Given the description of an element on the screen output the (x, y) to click on. 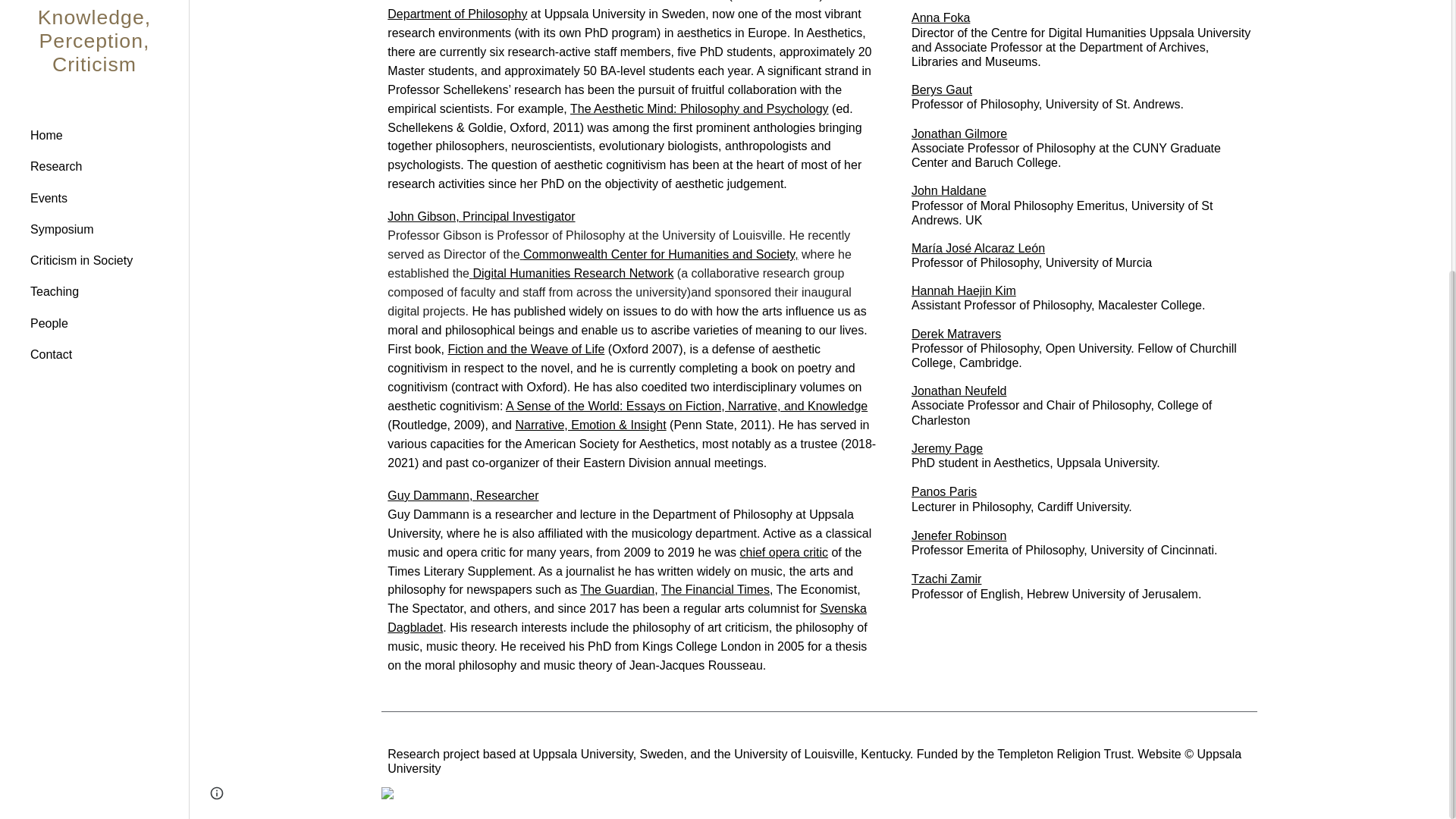
Panos Paris (943, 491)
chief opera critic (783, 552)
John Gibson, Principal Investigator (481, 215)
Jeremy Page (946, 448)
Svenska Dagbladet (626, 617)
Jonathan Neufeld (958, 390)
John Haldane (949, 190)
Anna Foka (940, 17)
Berys Gaut (941, 89)
Digital Humanities Research Network (570, 273)
The Financial Times (715, 589)
Derek Matravers (956, 333)
The Aesthetic Mind: Philosophy and Psychology (699, 108)
Department of Philosophy (457, 13)
